Given the description of an element on the screen output the (x, y) to click on. 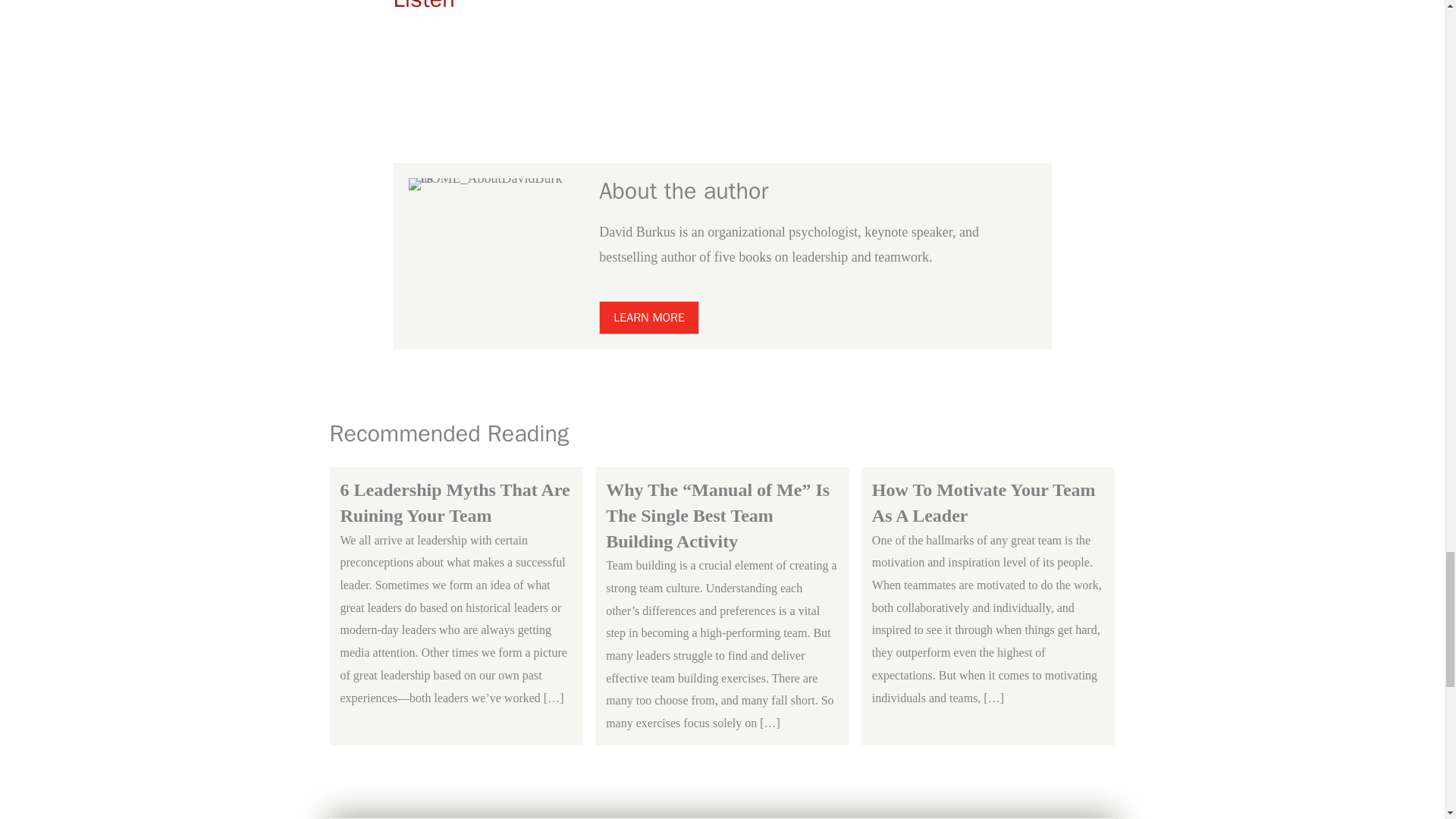
LEARN MORE (648, 317)
How To Motivate Your Team As A Leader (988, 502)
6 Leadership Myths That Are Ruining Your Team (455, 502)
